Given the description of an element on the screen output the (x, y) to click on. 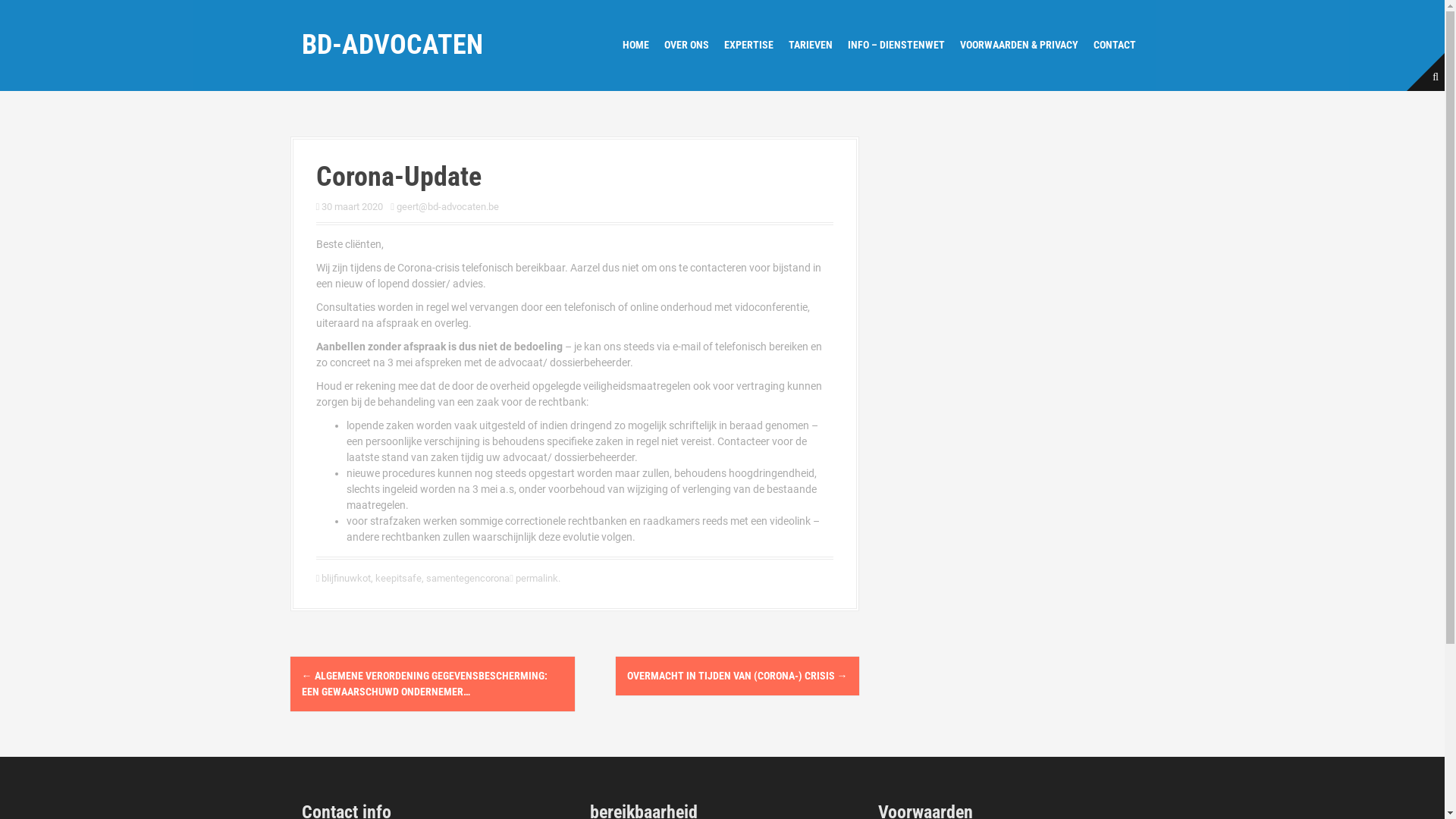
30 maart 2020 Element type: text (351, 206)
CONTACT Element type: text (1114, 45)
VOORWAARDEN & PRIVACY Element type: text (1019, 45)
samentegencorona Element type: text (467, 577)
keepitsafe Element type: text (398, 577)
OVER ONS Element type: text (686, 45)
permalink Element type: text (535, 577)
BD-ADVOCATEN Element type: text (392, 44)
EXPERTISE Element type: text (747, 45)
geert@bd-advocaten.be Element type: text (447, 206)
HOME Element type: text (634, 45)
blijfinuwkot Element type: text (345, 577)
TARIEVEN Element type: text (810, 45)
